Given the description of an element on the screen output the (x, y) to click on. 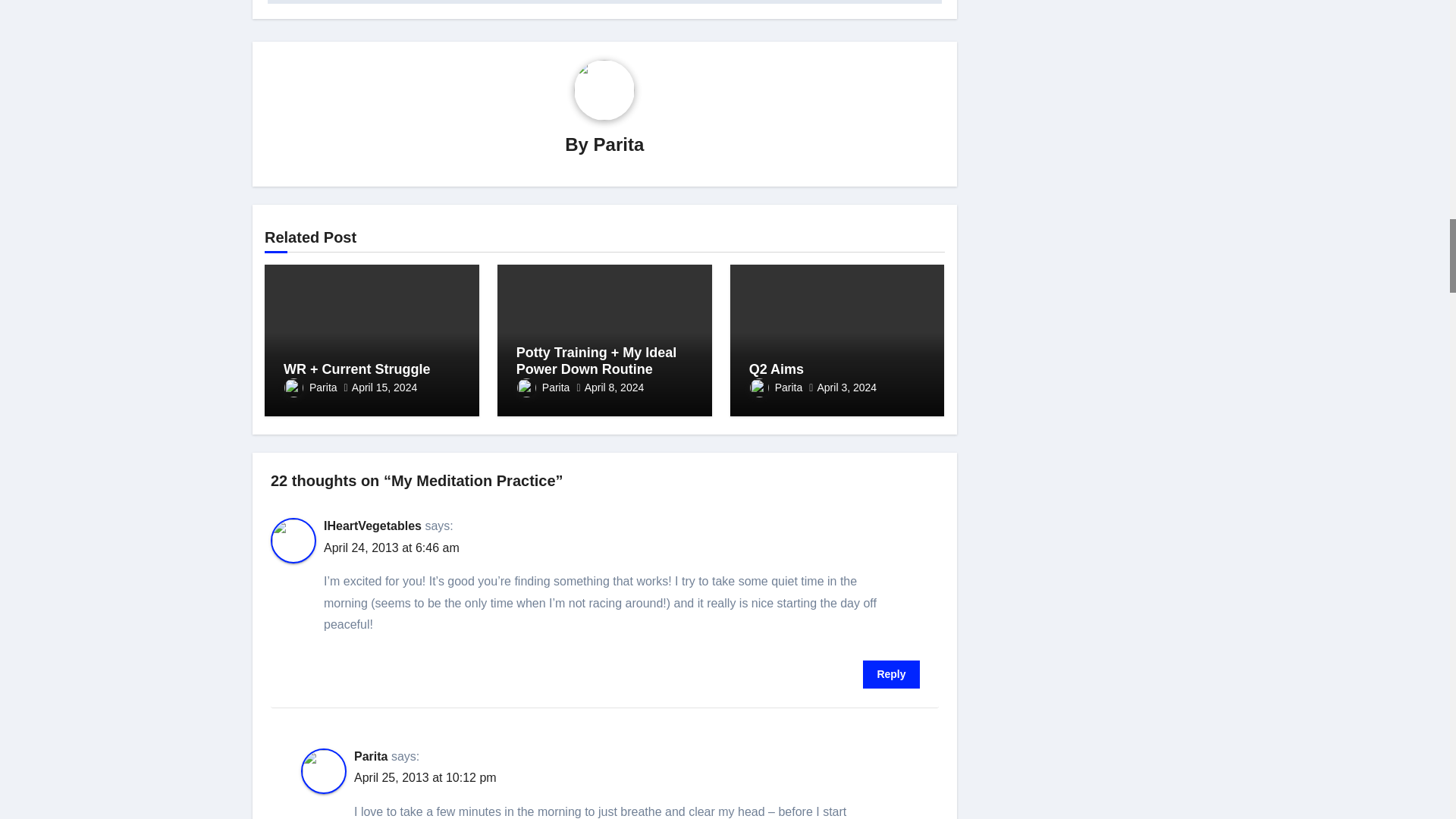
Permalink to: Q2 Aims (776, 368)
